Given the description of an element on the screen output the (x, y) to click on. 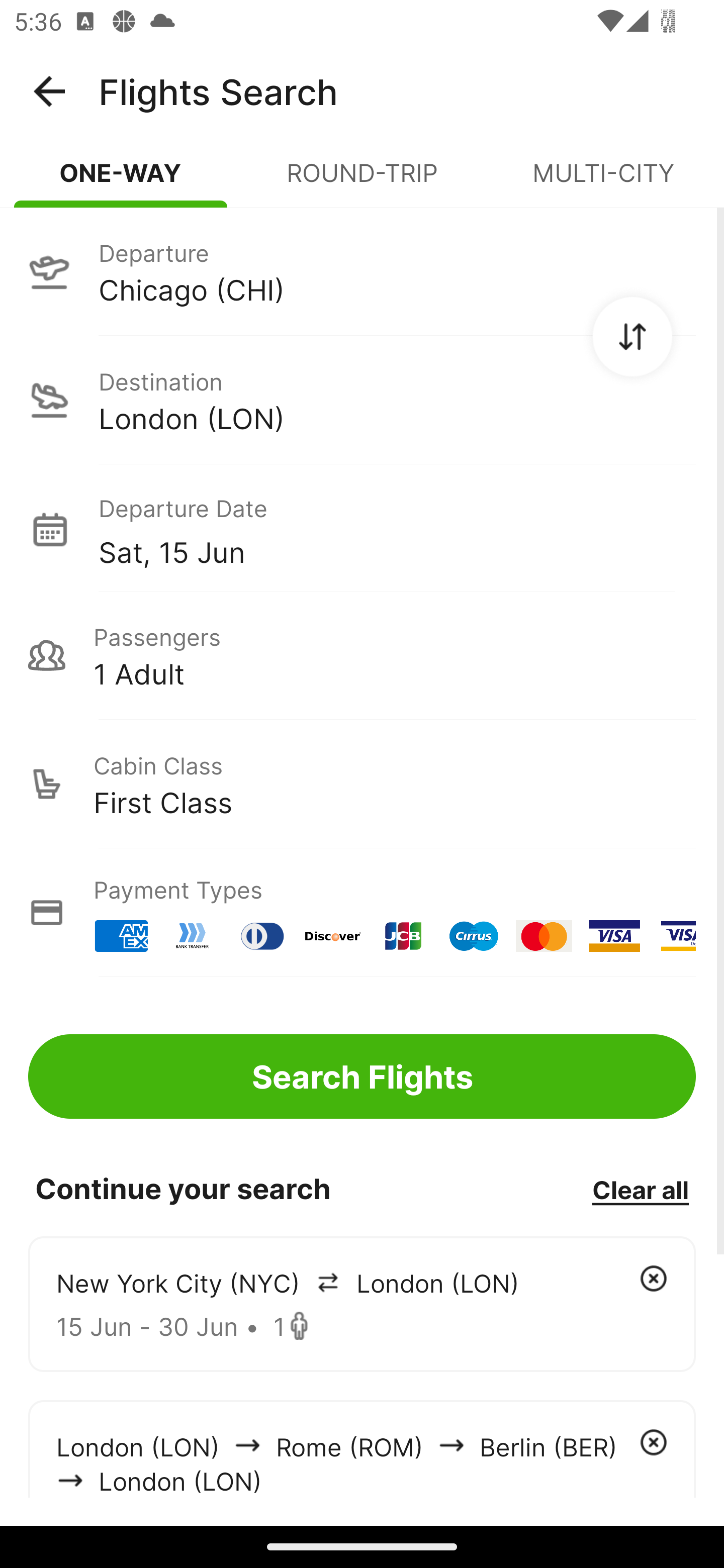
ONE-WAY (120, 180)
ROUND-TRIP (361, 180)
MULTI-CITY (603, 180)
Departure Chicago (CHI) (362, 270)
Destination London (LON) (362, 400)
Departure Date Sat, 15 Jun (396, 528)
Passengers 1 Adult (362, 655)
Cabin Class First Class (362, 783)
Payment Types (362, 912)
Search Flights (361, 1075)
Clear all (640, 1189)
